Given the description of an element on the screen output the (x, y) to click on. 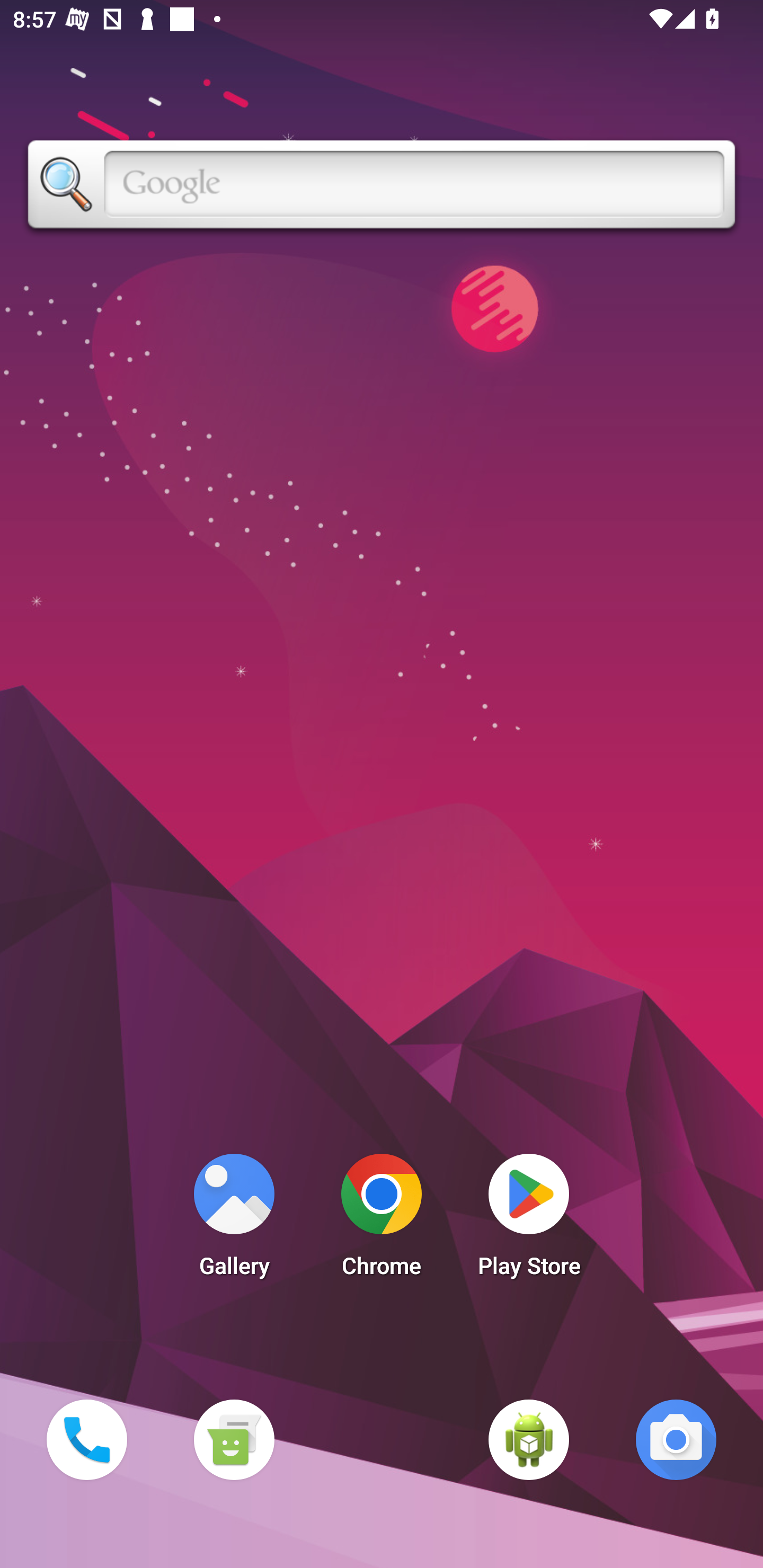
Gallery (233, 1220)
Chrome (381, 1220)
Play Store (528, 1220)
Phone (86, 1439)
Messaging (233, 1439)
WebView Browser Tester (528, 1439)
Camera (676, 1439)
